Given the description of an element on the screen output the (x, y) to click on. 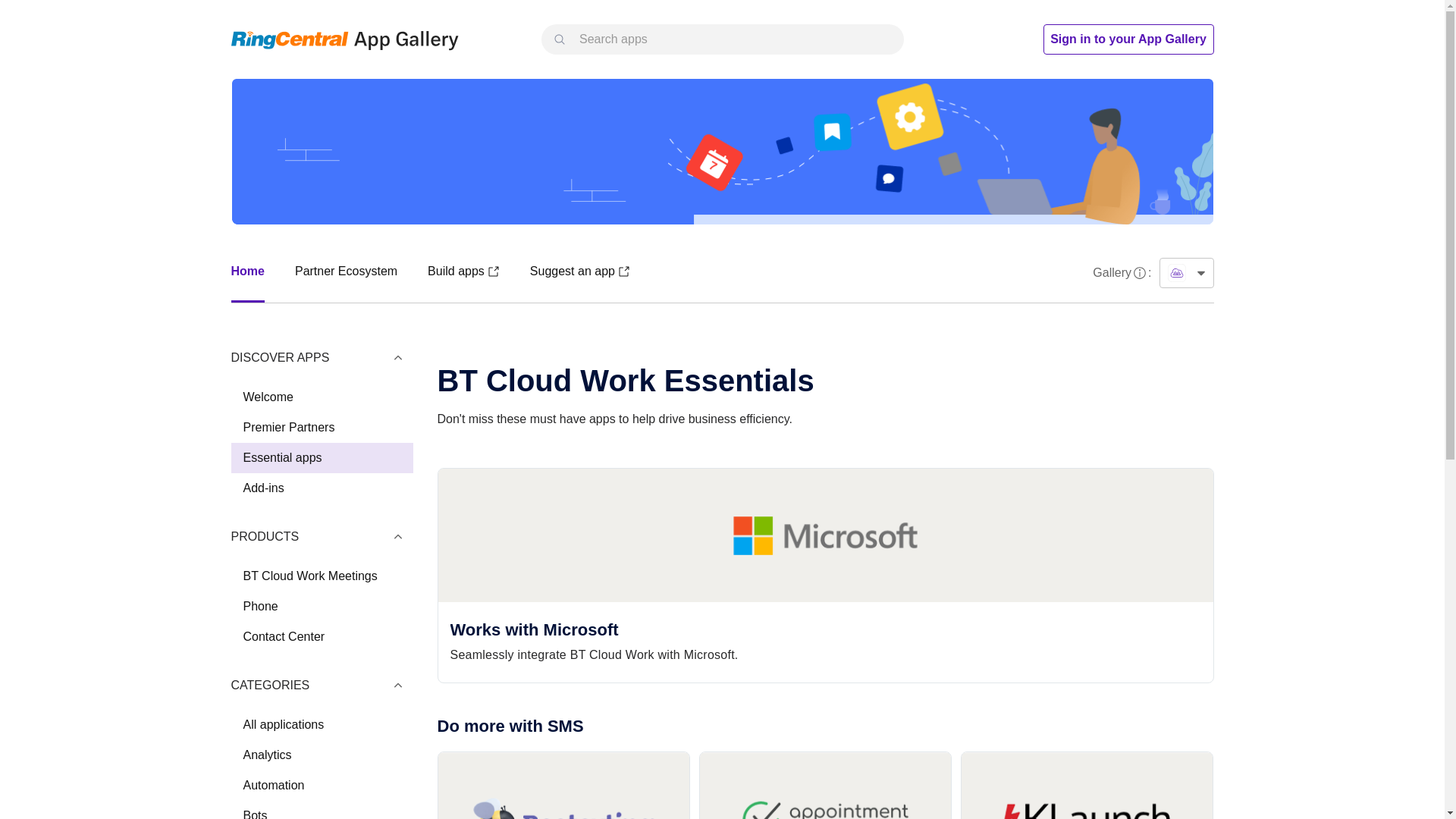
Contact Center (283, 635)
BT Cloud Work Meetings (310, 575)
Welcome (267, 396)
Premier Partners (288, 427)
Add-ins (263, 487)
Phone (260, 605)
All applications (283, 724)
Sign in to your App Gallery (1128, 39)
Welcome (321, 397)
All applications (321, 725)
Essential apps (321, 458)
Automation (321, 785)
Analytics (267, 754)
Phone (321, 606)
